Given the description of an element on the screen output the (x, y) to click on. 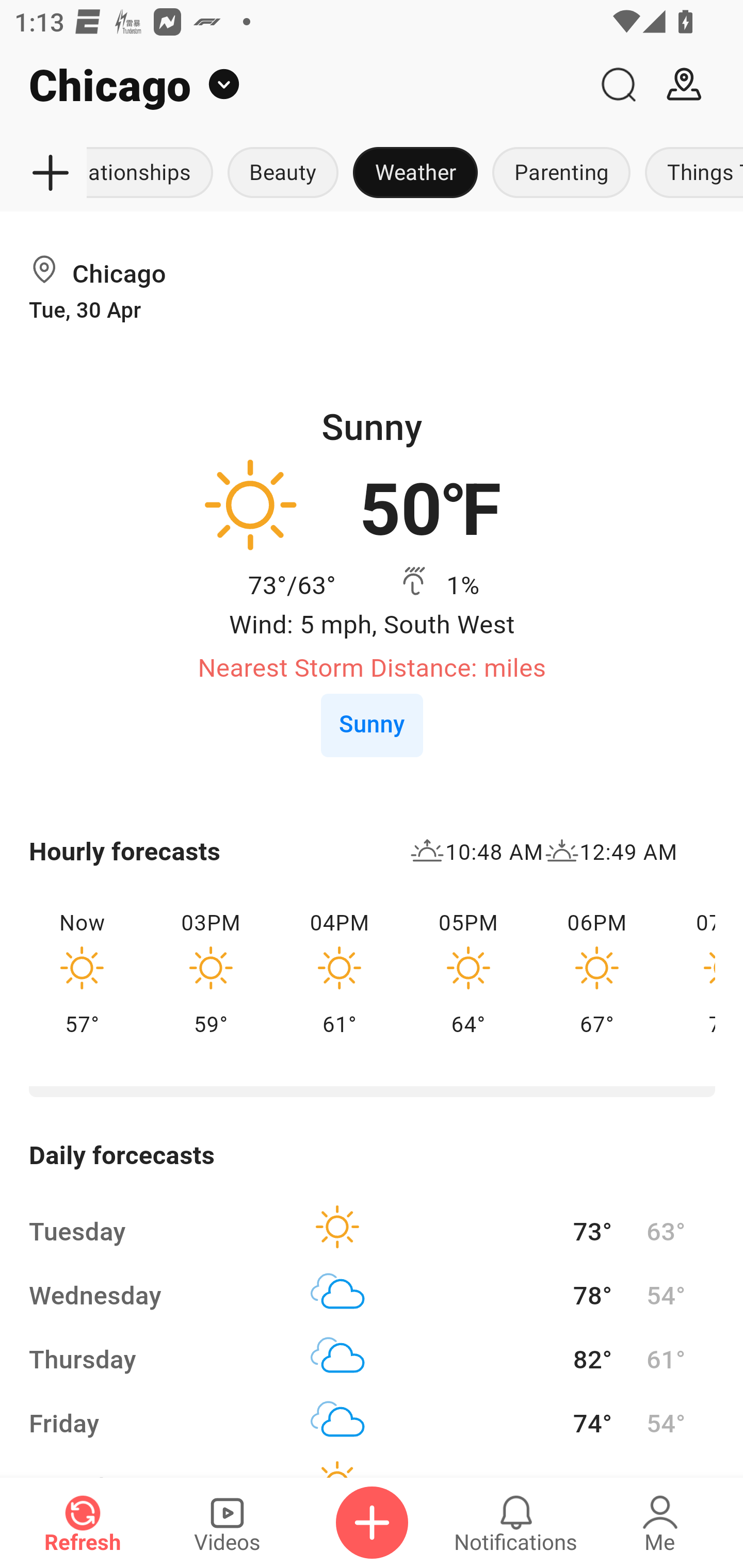
Chicago (292, 84)
Relationships (153, 172)
Beauty (282, 172)
Weather (415, 172)
Parenting (561, 172)
Things To Do (690, 172)
Videos (227, 1522)
Notifications (516, 1522)
Me (659, 1522)
